Given the description of an element on the screen output the (x, y) to click on. 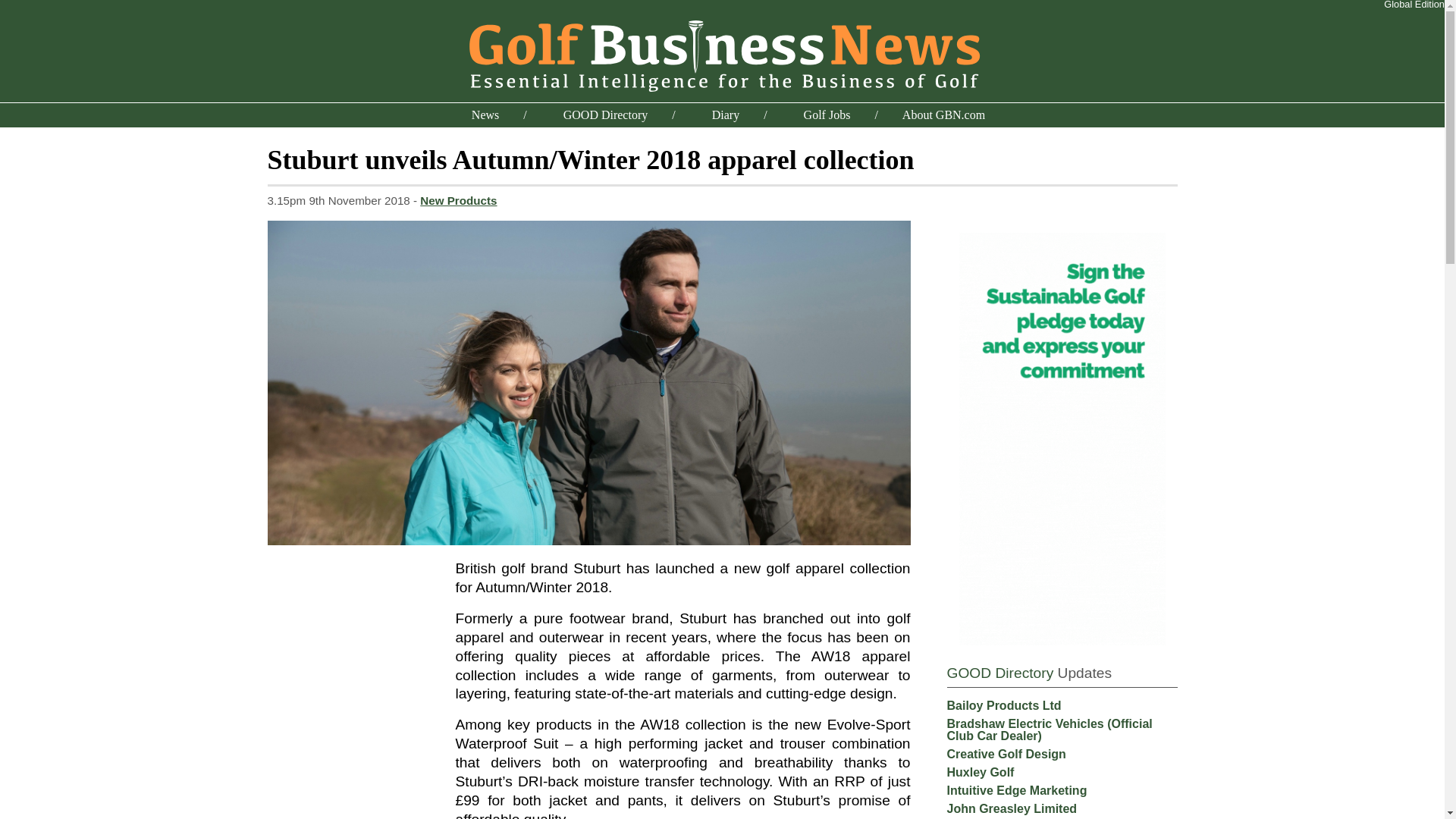
GOOD Directory (999, 672)
Creative Golf Design (1005, 753)
GBN Home (722, 52)
John Greasley Limited (1011, 808)
New Products (458, 200)
About GBN.com (943, 114)
All the latest news from the golf industry (485, 114)
Huxley Golf (979, 771)
Intuitive Edge Marketing (1016, 789)
Bailoy Products Ltd (1003, 705)
